Given the description of an element on the screen output the (x, y) to click on. 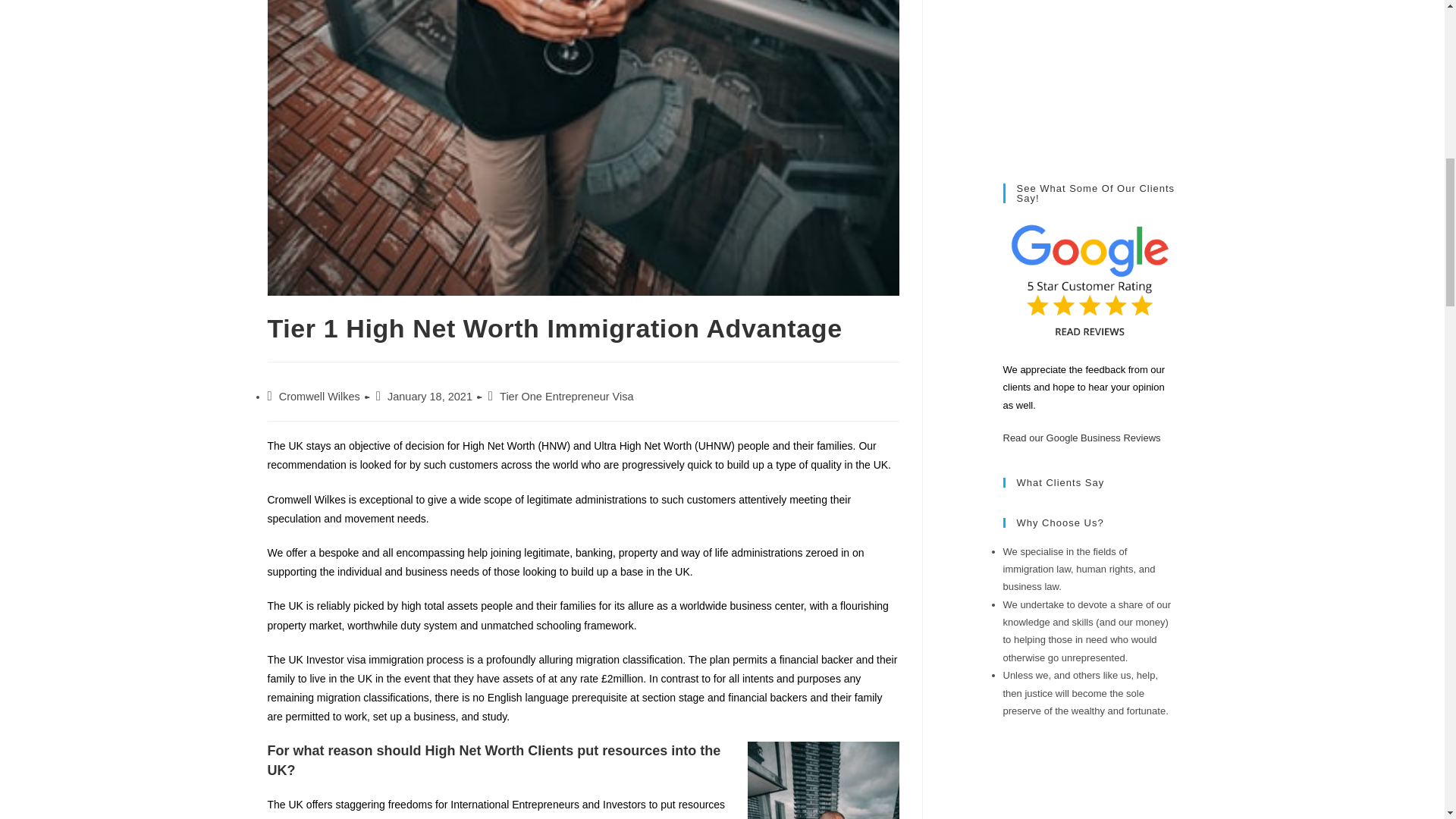
Posts by Cromwell Wilkes (319, 396)
